Given the description of an element on the screen output the (x, y) to click on. 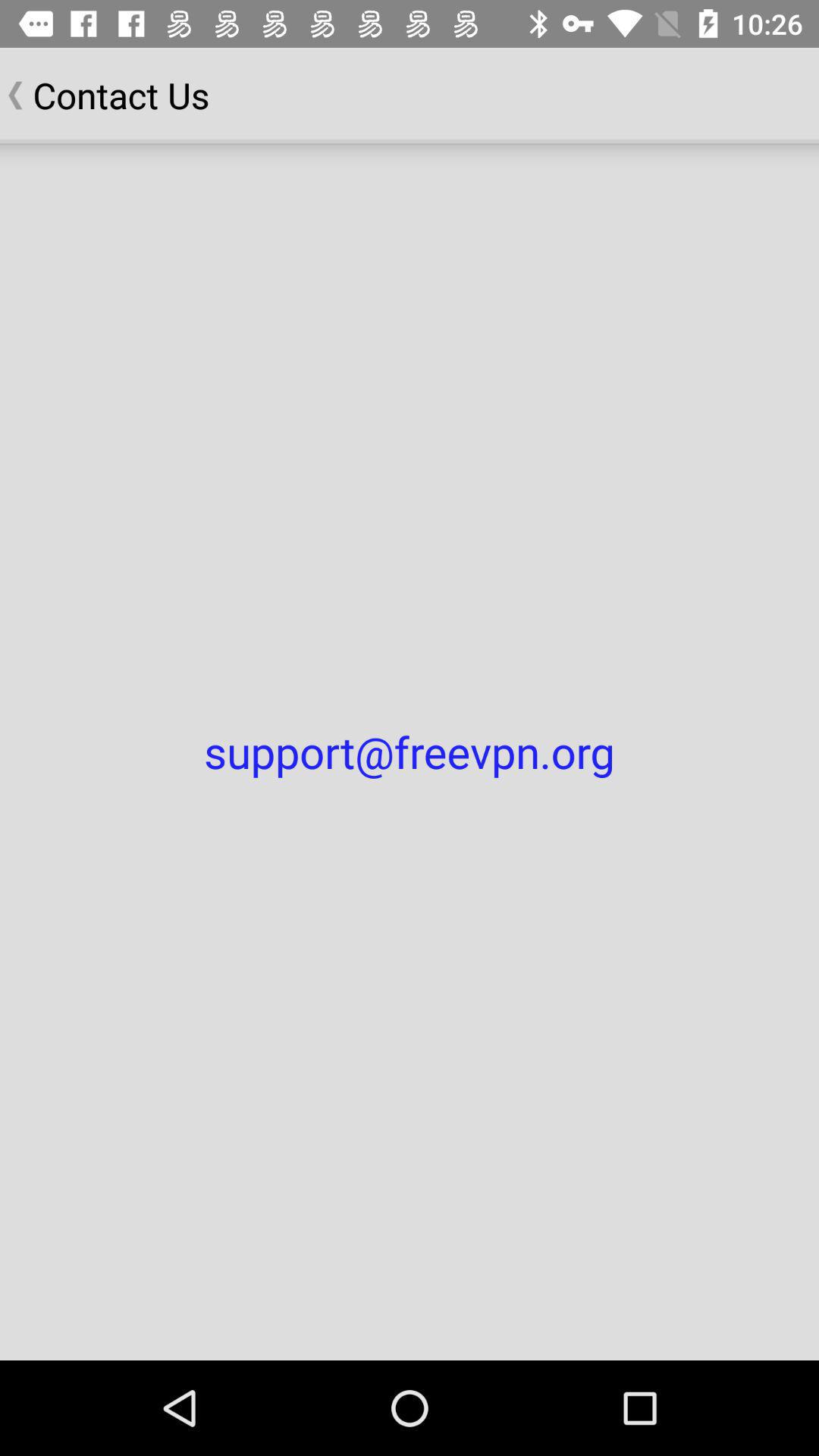
scroll until the support@freevpn.org icon (409, 751)
